Given the description of an element on the screen output the (x, y) to click on. 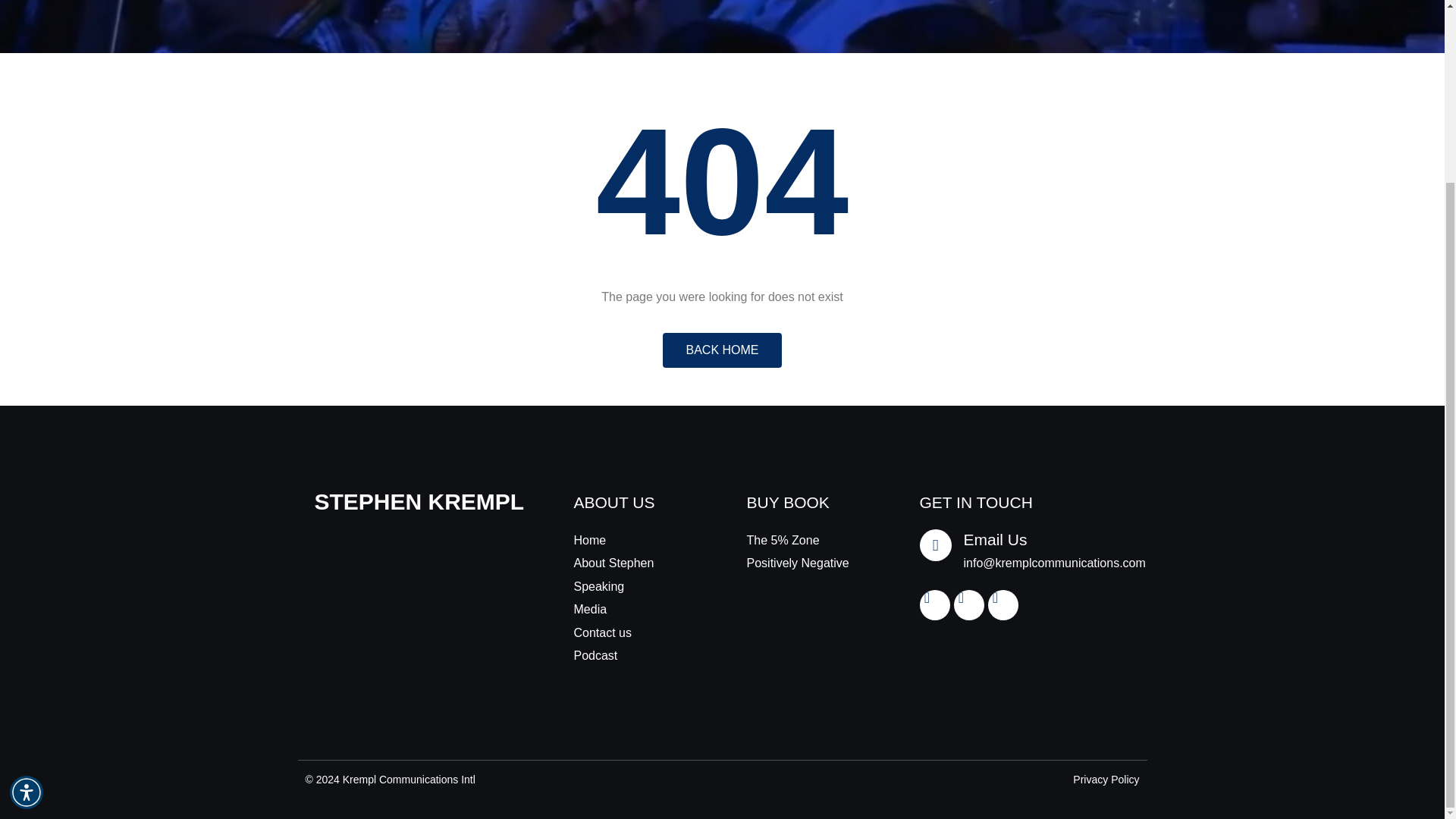
About Stephen (635, 563)
Accessibility Menu (26, 567)
Privacy Policy (1105, 779)
Positively Negative (807, 563)
Podcast (635, 655)
Contact us (635, 632)
Home (635, 540)
Speaking (635, 586)
Media (635, 609)
BACK HOME (721, 349)
